Given the description of an element on the screen output the (x, y) to click on. 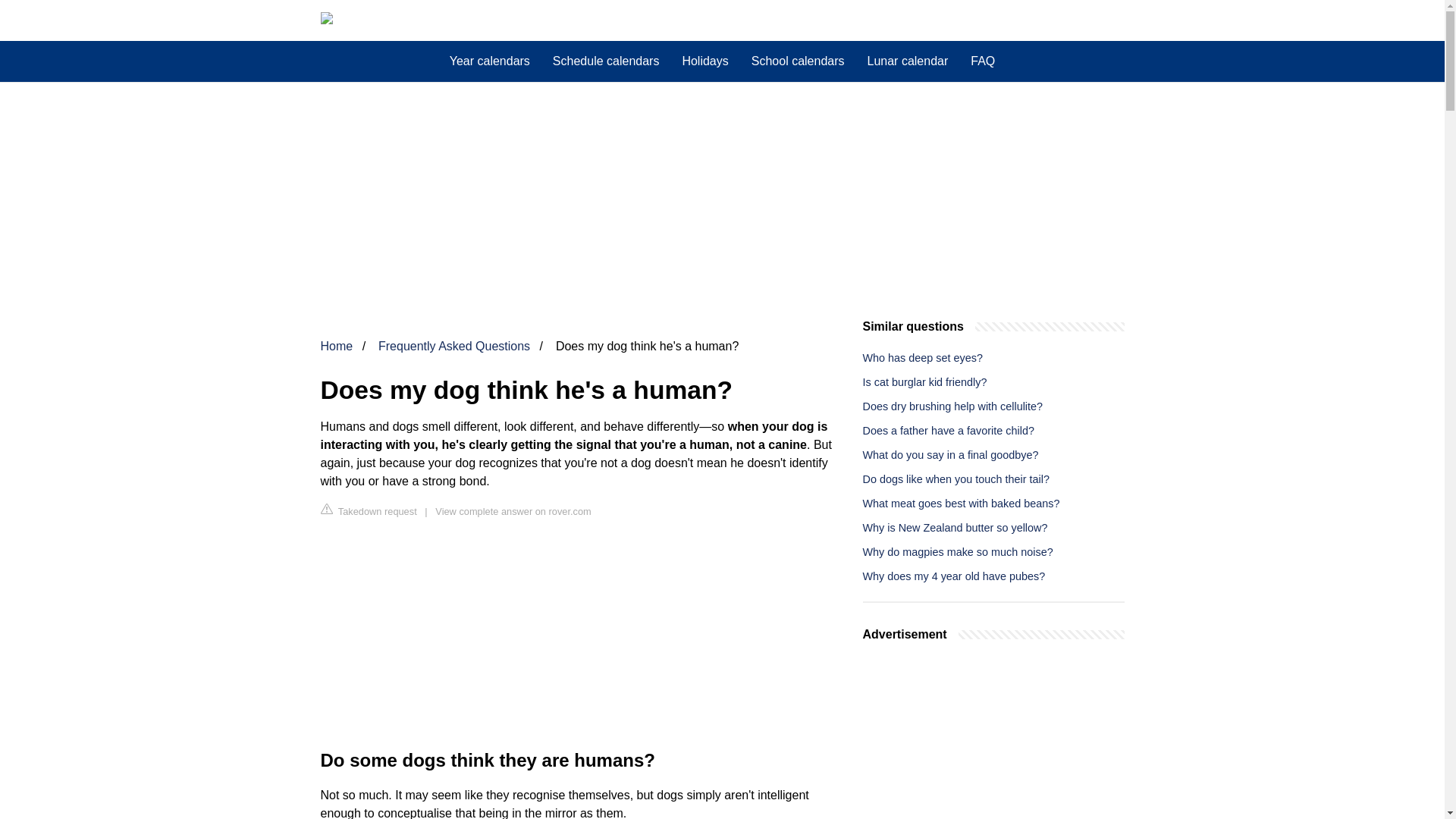
Year calendars (489, 60)
School calendars (797, 60)
FAQ (982, 60)
Schedule calendars (606, 60)
Home (336, 345)
Holidays (704, 60)
Frequently Asked Questions (453, 345)
Lunar calendar (907, 60)
View complete answer on rover.com (513, 511)
Takedown request (368, 510)
